Given the description of an element on the screen output the (x, y) to click on. 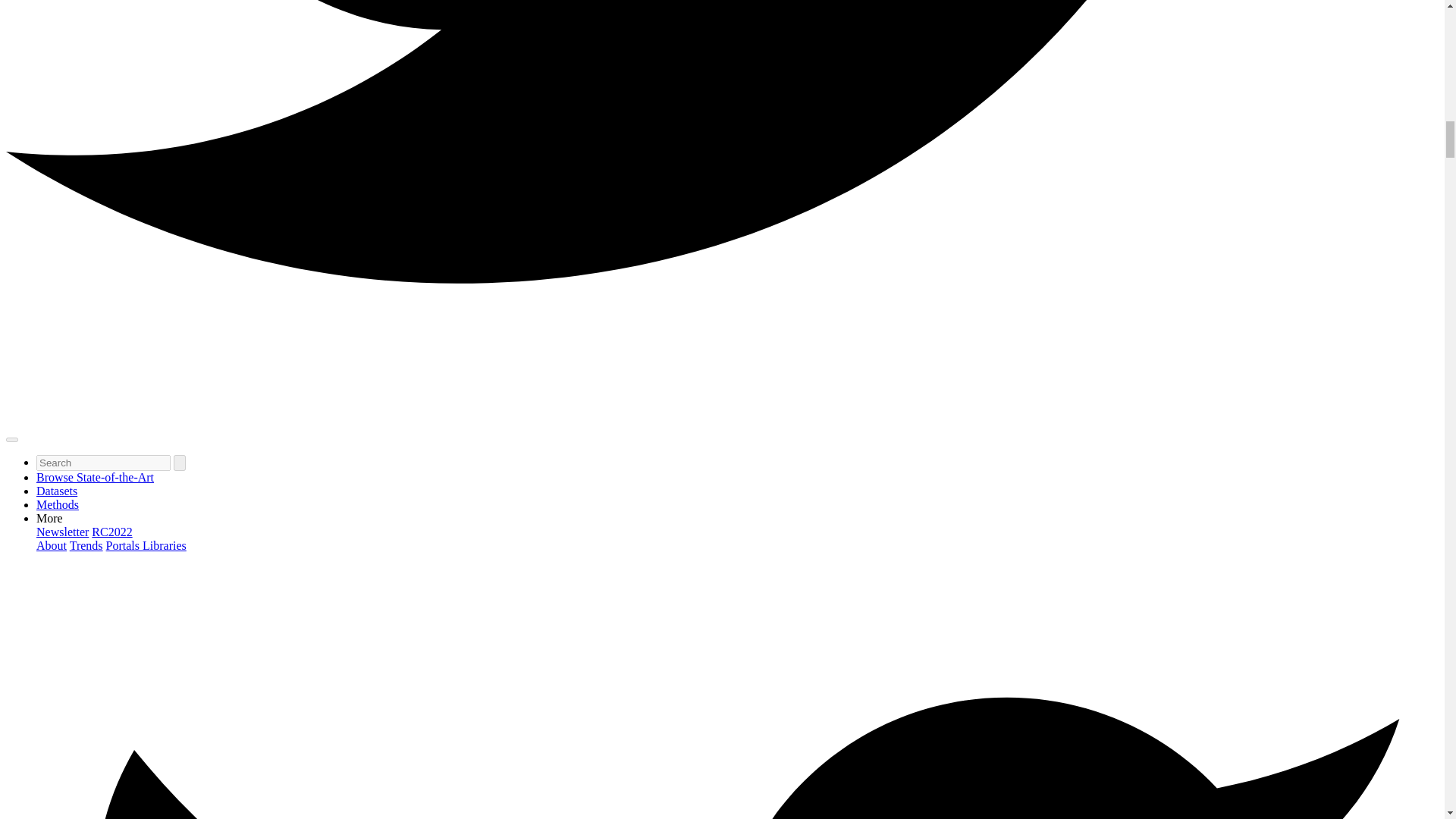
Trends (86, 545)
Portals (124, 545)
Libraries (164, 545)
RC2022 (111, 531)
About (51, 545)
More (49, 517)
Datasets (56, 490)
Newsletter (62, 531)
Methods (57, 504)
Browse State-of-the-Art (95, 477)
